Given the description of an element on the screen output the (x, y) to click on. 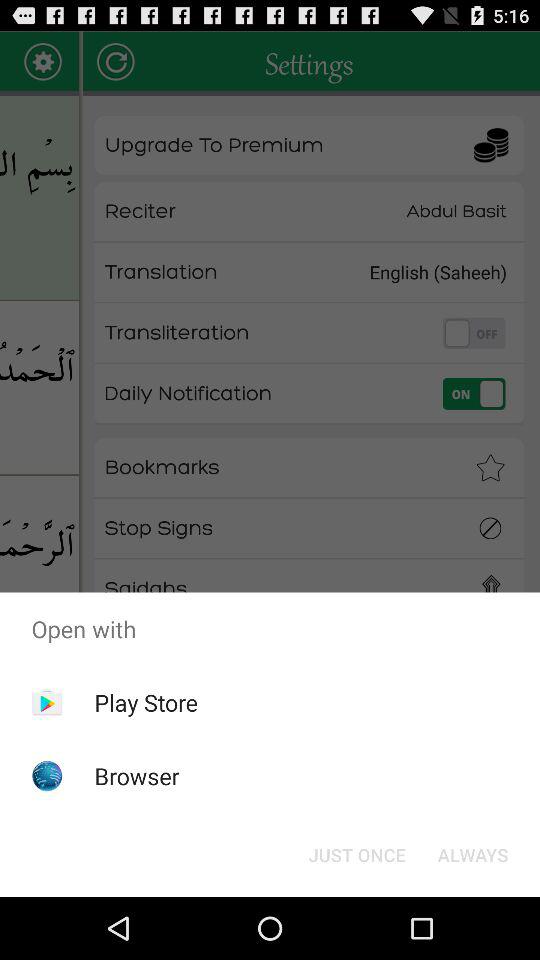
tap app below open with app (356, 854)
